Given the description of an element on the screen output the (x, y) to click on. 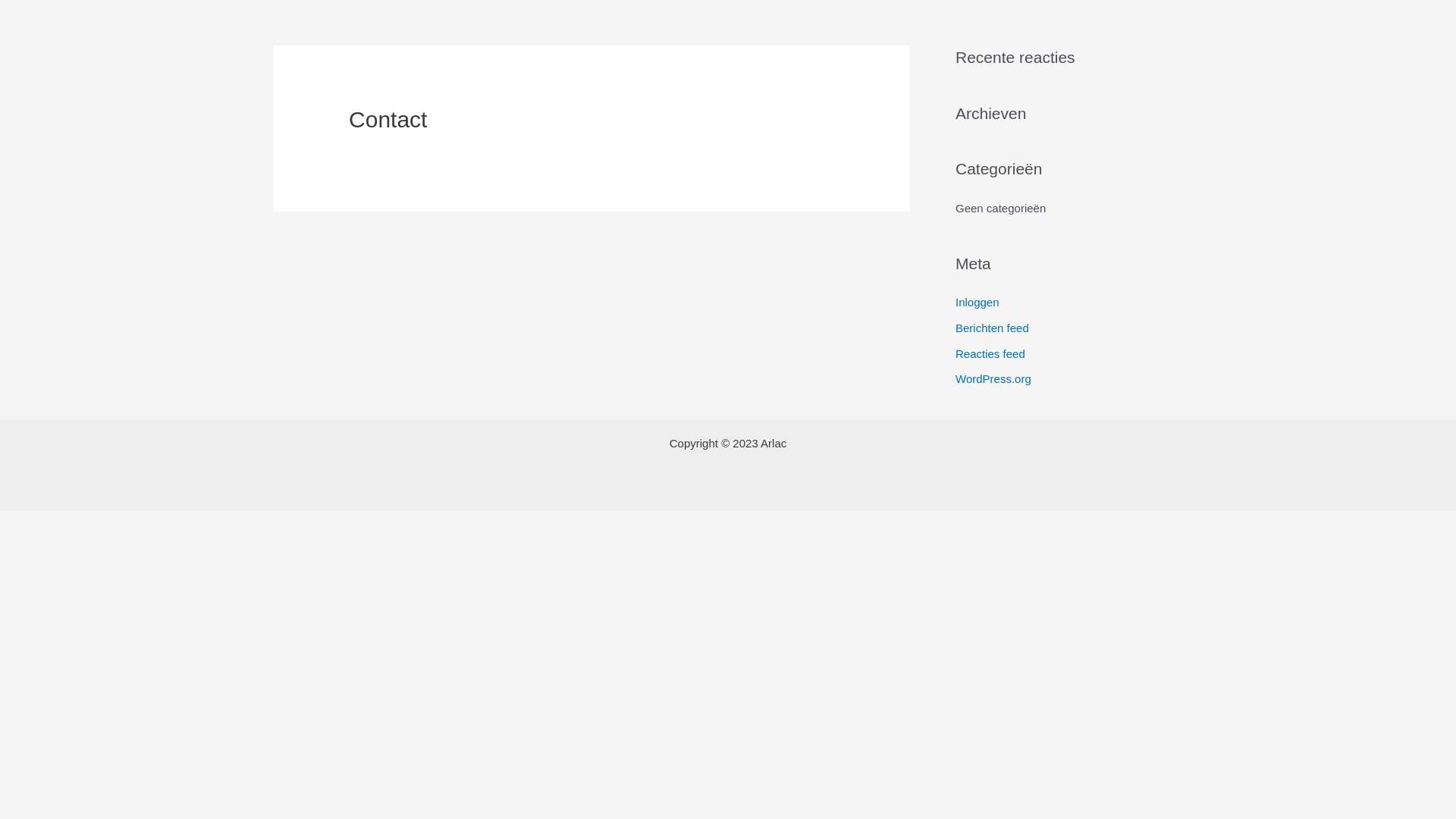
WordPress.org Element type: text (993, 378)
Reacties feed Element type: text (990, 353)
Berichten feed Element type: text (992, 327)
Inloggen Element type: text (977, 301)
